Given the description of an element on the screen output the (x, y) to click on. 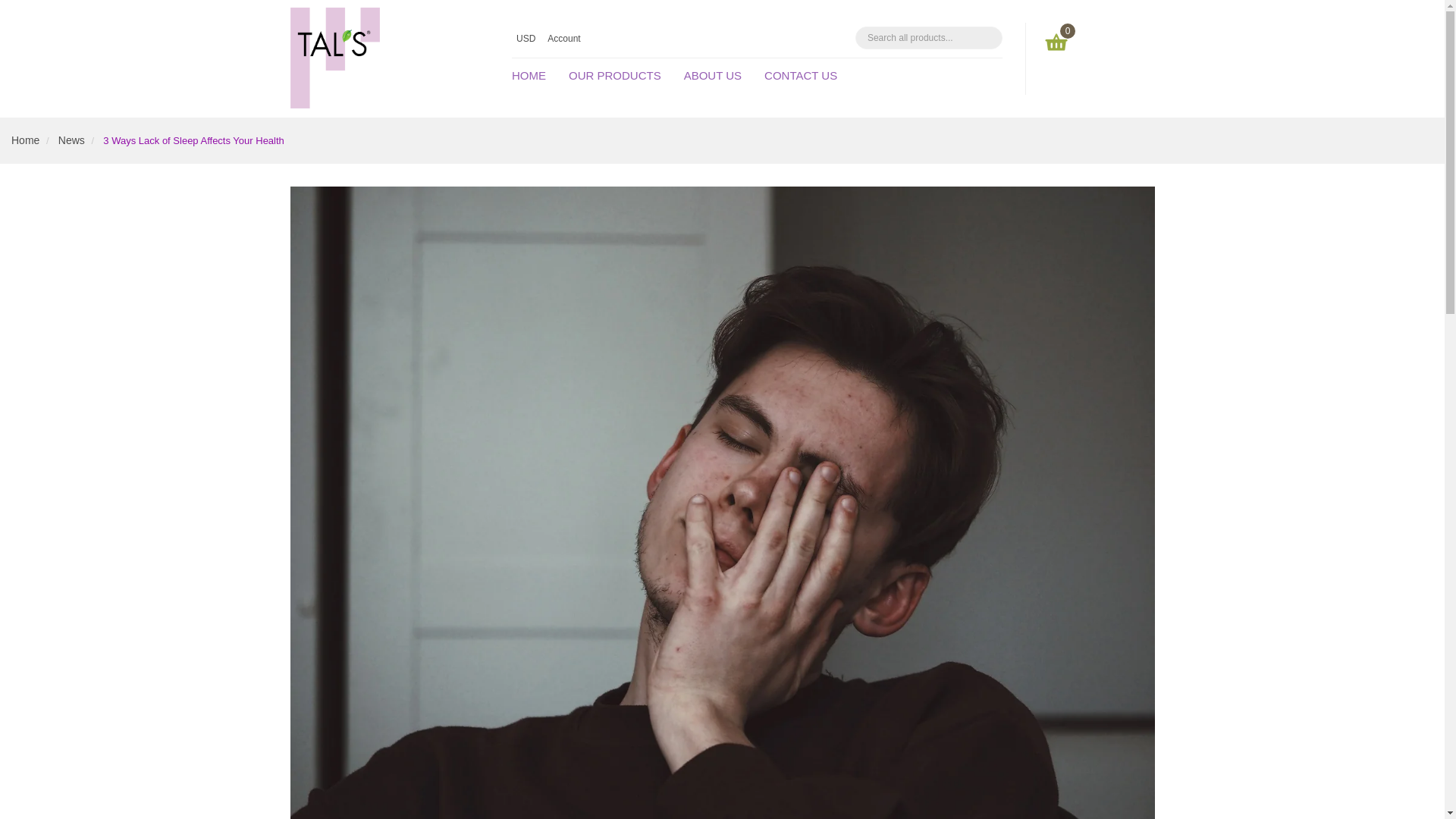
News (71, 140)
Account (565, 38)
CONTACT US (800, 75)
Home (25, 140)
0 (1056, 42)
ABOUT US (712, 75)
HOME (534, 75)
Back to the frontpage (25, 140)
OUR PRODUCTS (614, 75)
USD (526, 38)
